Given the description of an element on the screen output the (x, y) to click on. 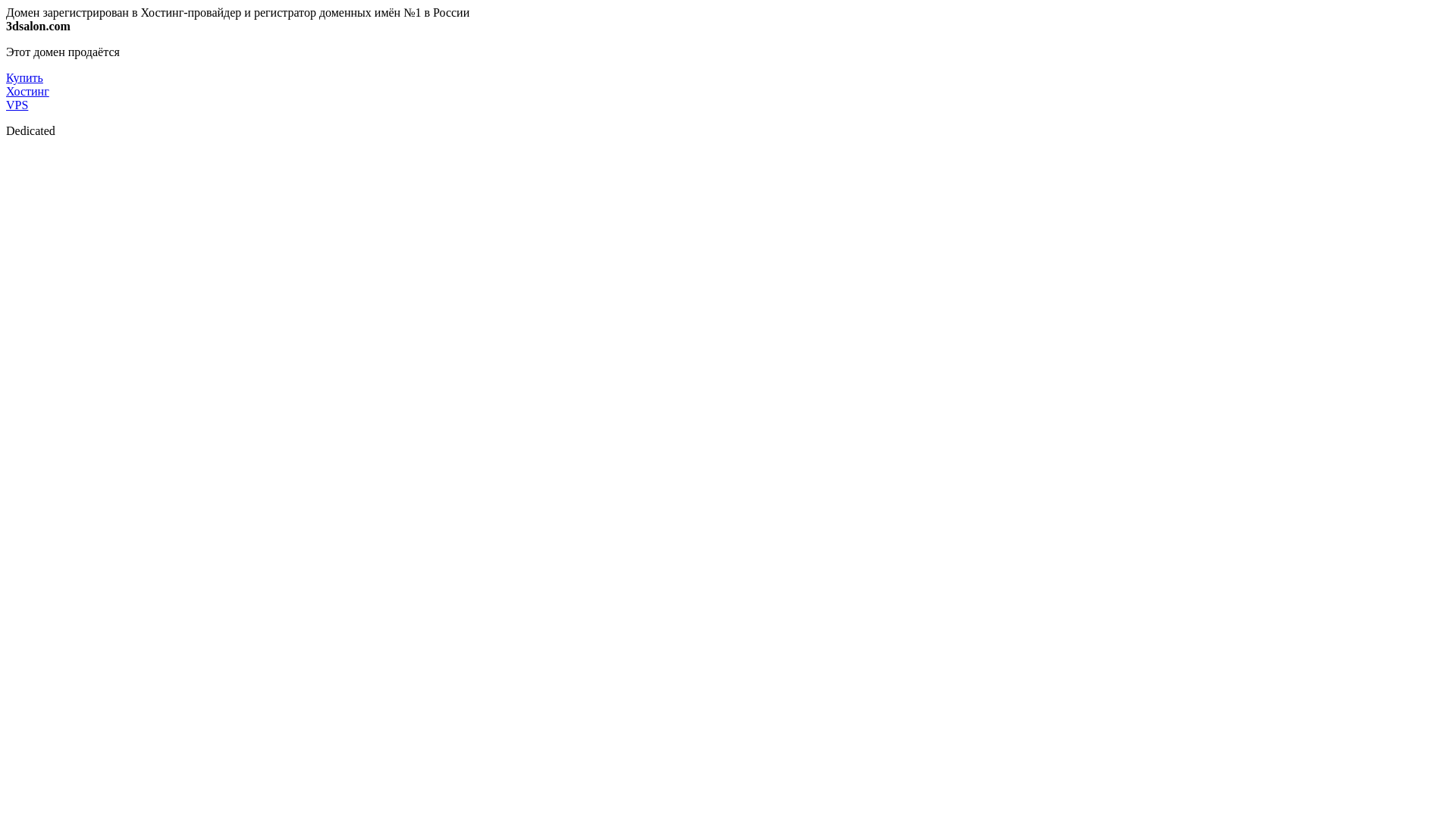
VPS Element type: text (17, 104)
